Given the description of an element on the screen output the (x, y) to click on. 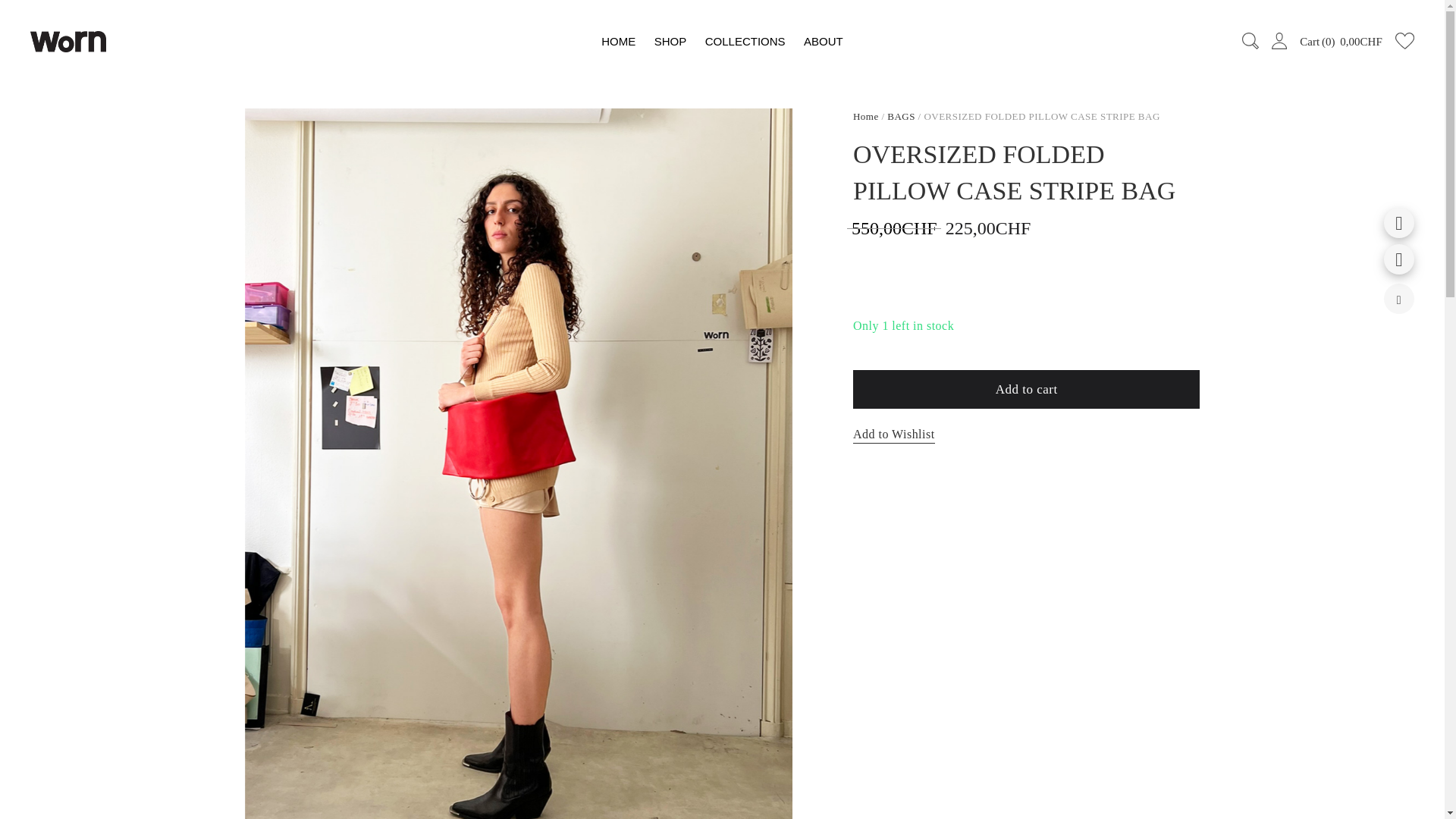
WORNOFFICIAL (68, 41)
ABOUT (819, 41)
SHOP (722, 41)
HOME (670, 41)
OVERSIZED-PILLOWCASE-FOLDED-BAG1 (622, 41)
